Given the description of an element on the screen output the (x, y) to click on. 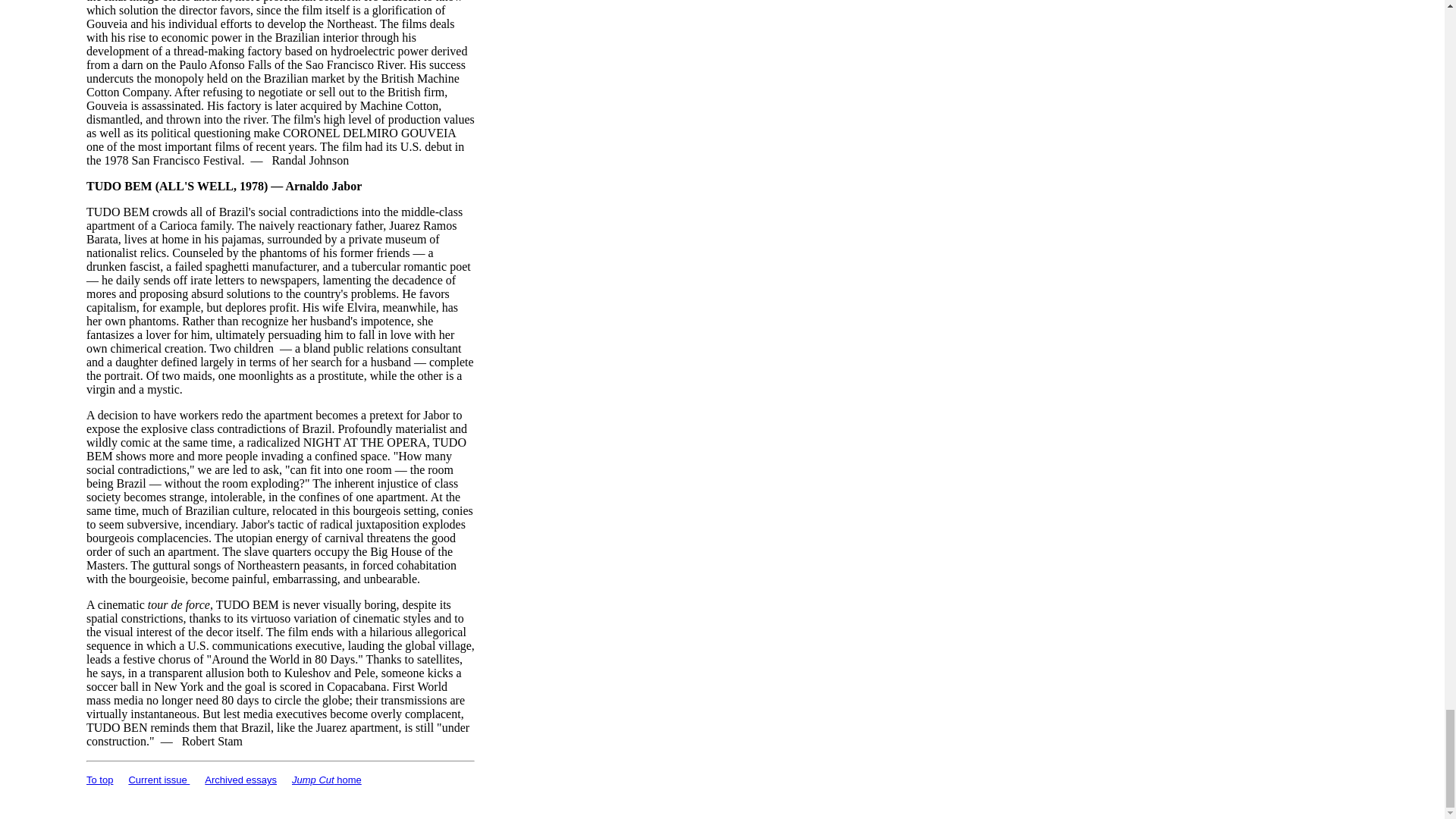
Archived essays (240, 779)
To top (99, 779)
Current issue (158, 779)
Jump Cut home (326, 779)
